Given the description of an element on the screen output the (x, y) to click on. 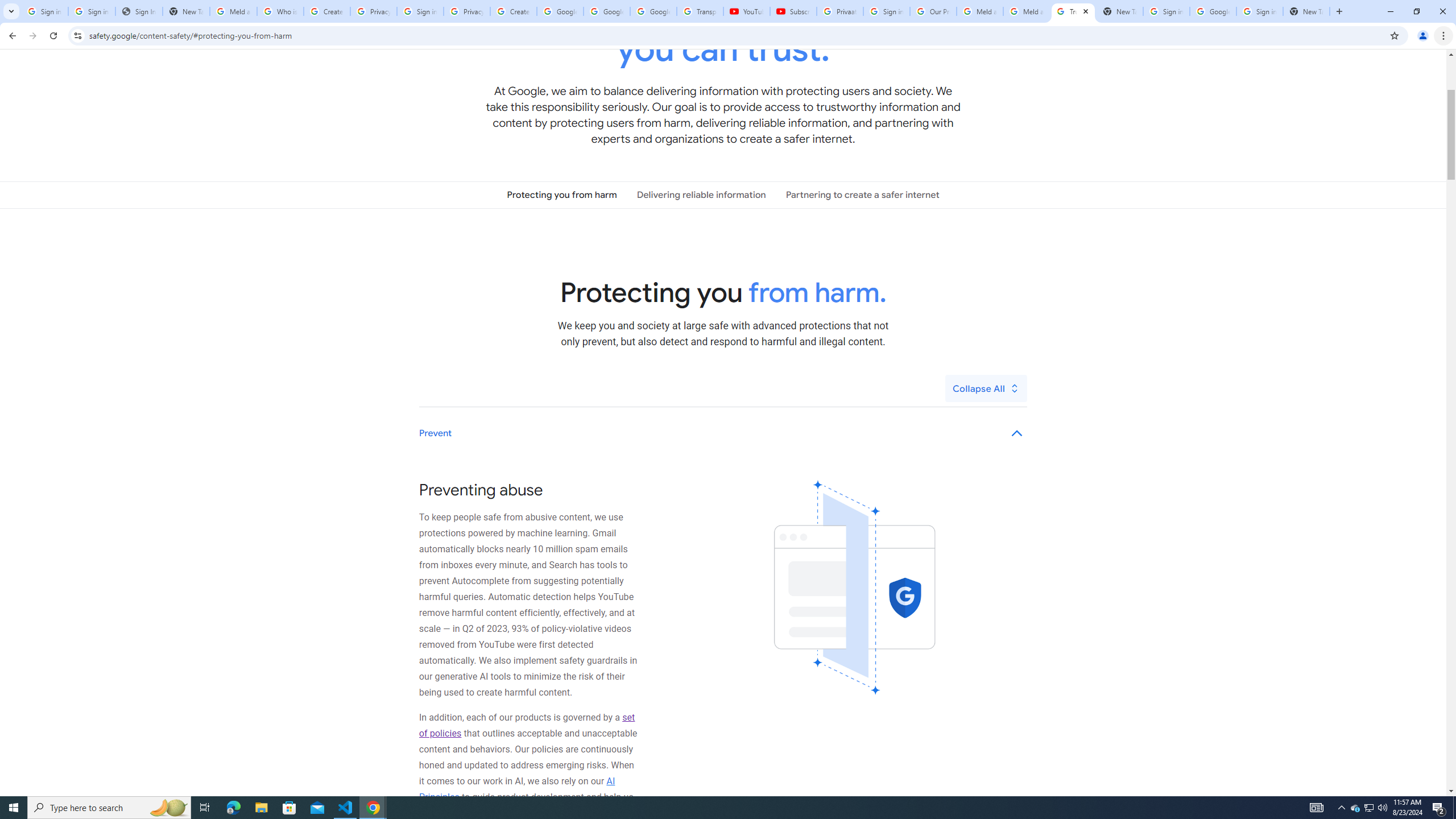
Sign in - Google Accounts (419, 11)
Prevent (723, 433)
